Given the description of an element on the screen output the (x, y) to click on. 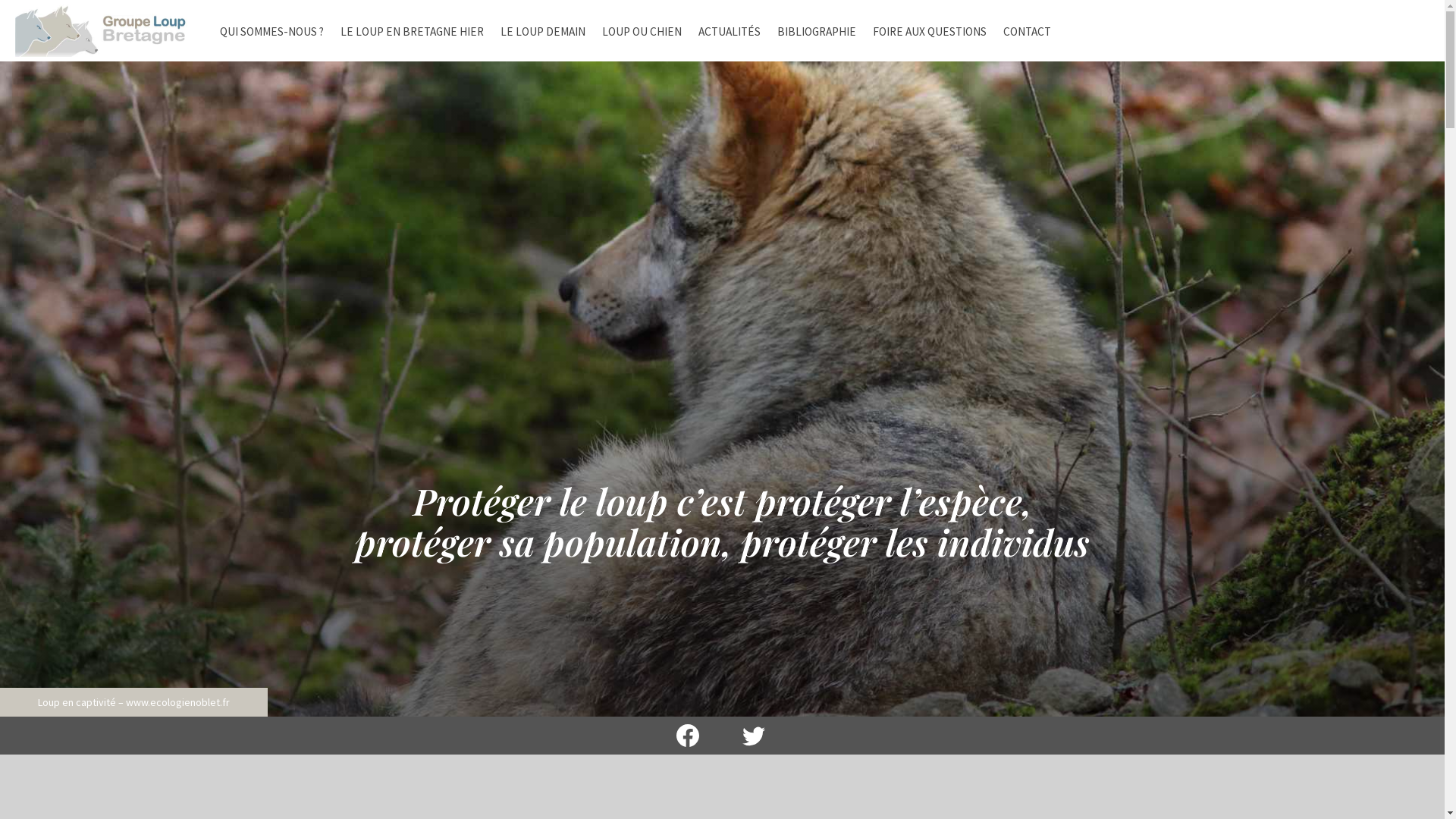
Contactez-nous Element type: text (1024, 598)
LE LOUP DEMAIN Element type: text (542, 31)
Groupe Mammalogique Breton Element type: text (575, 603)
BIBLIOGRAPHIE Element type: text (816, 31)
FOIRE AUX QUESTIONS Element type: text (929, 31)
LE LOUP EN BRETAGNE HIER Element type: text (411, 31)
Bretagne Vivante Element type: text (547, 623)
FAQ Element type: text (747, 620)
Qui sommes-nous Element type: text (1023, 545)
Bibliographie Element type: text (1007, 567)
Loup ou Chien Element type: text (772, 589)
CONTACT Element type: text (1027, 31)
QUI SOMMES-NOUS ? Element type: text (271, 31)
Loup de demain Element type: text (778, 567)
Loup d'hier Element type: text (763, 545)
LOUP OU CHIEN Element type: text (641, 31)
